Given the description of an element on the screen output the (x, y) to click on. 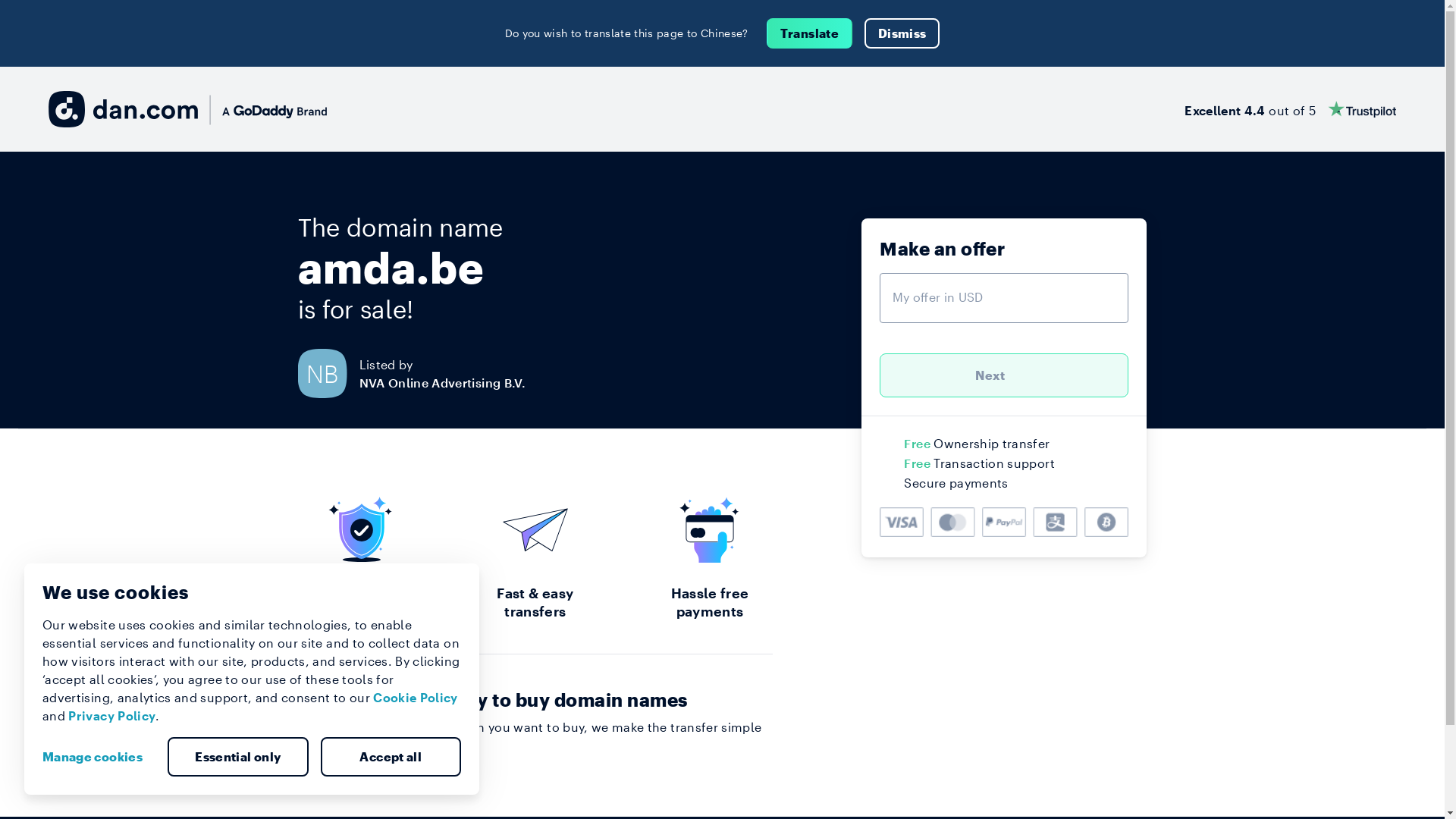
Privacy Policy Element type: text (111, 715)
Cookie Policy Element type: text (415, 697)
Excellent 4.4 out of 5 Element type: text (1290, 109)
Dismiss Element type: text (901, 33)
Translate Element type: text (809, 33)
Essential only Element type: text (237, 756)
Accept all Element type: text (390, 756)
Next
) Element type: text (1003, 375)
Manage cookies Element type: text (98, 756)
